Given the description of an element on the screen output the (x, y) to click on. 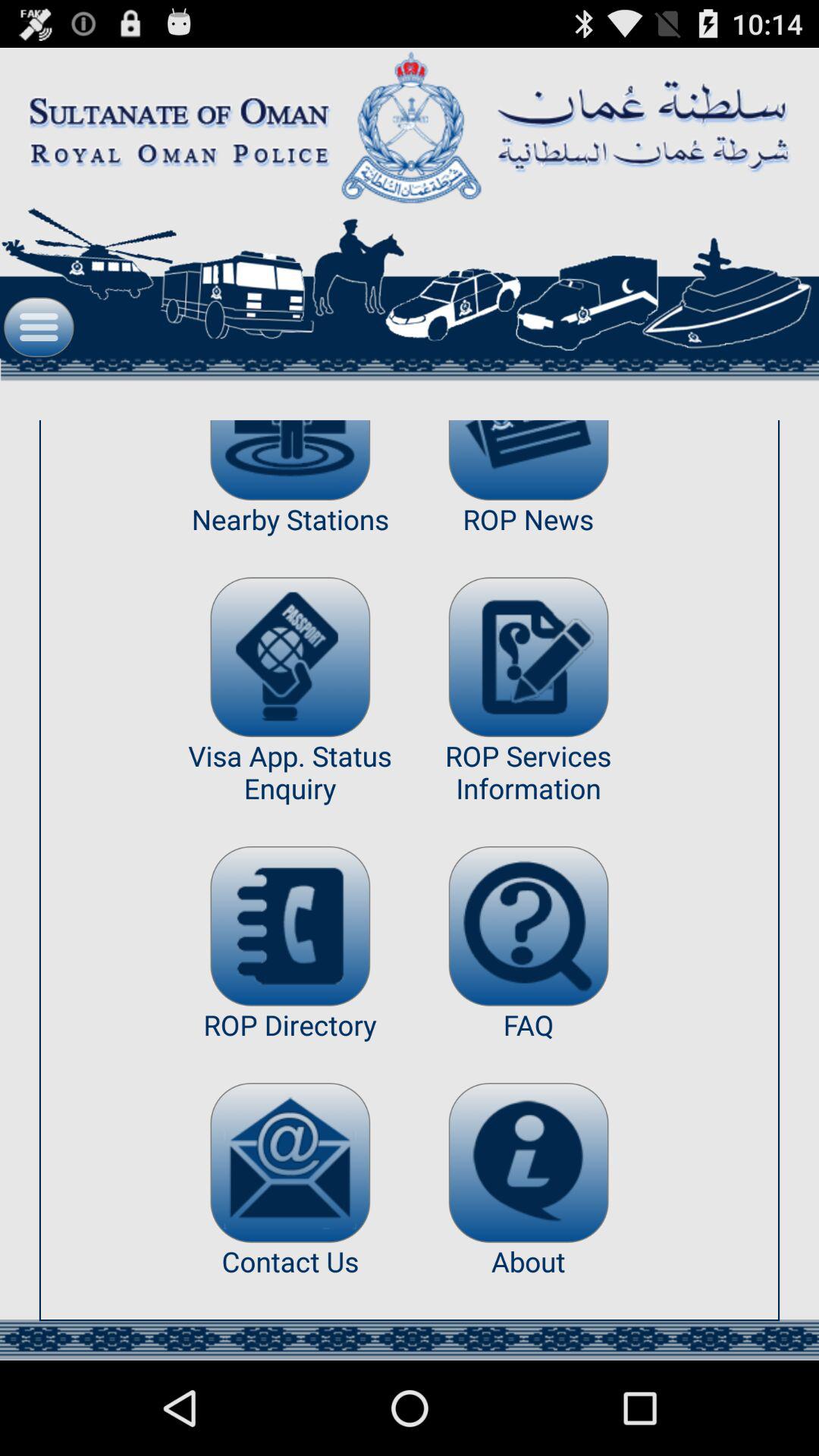
view nearby stations (290, 460)
